Given the description of an element on the screen output the (x, y) to click on. 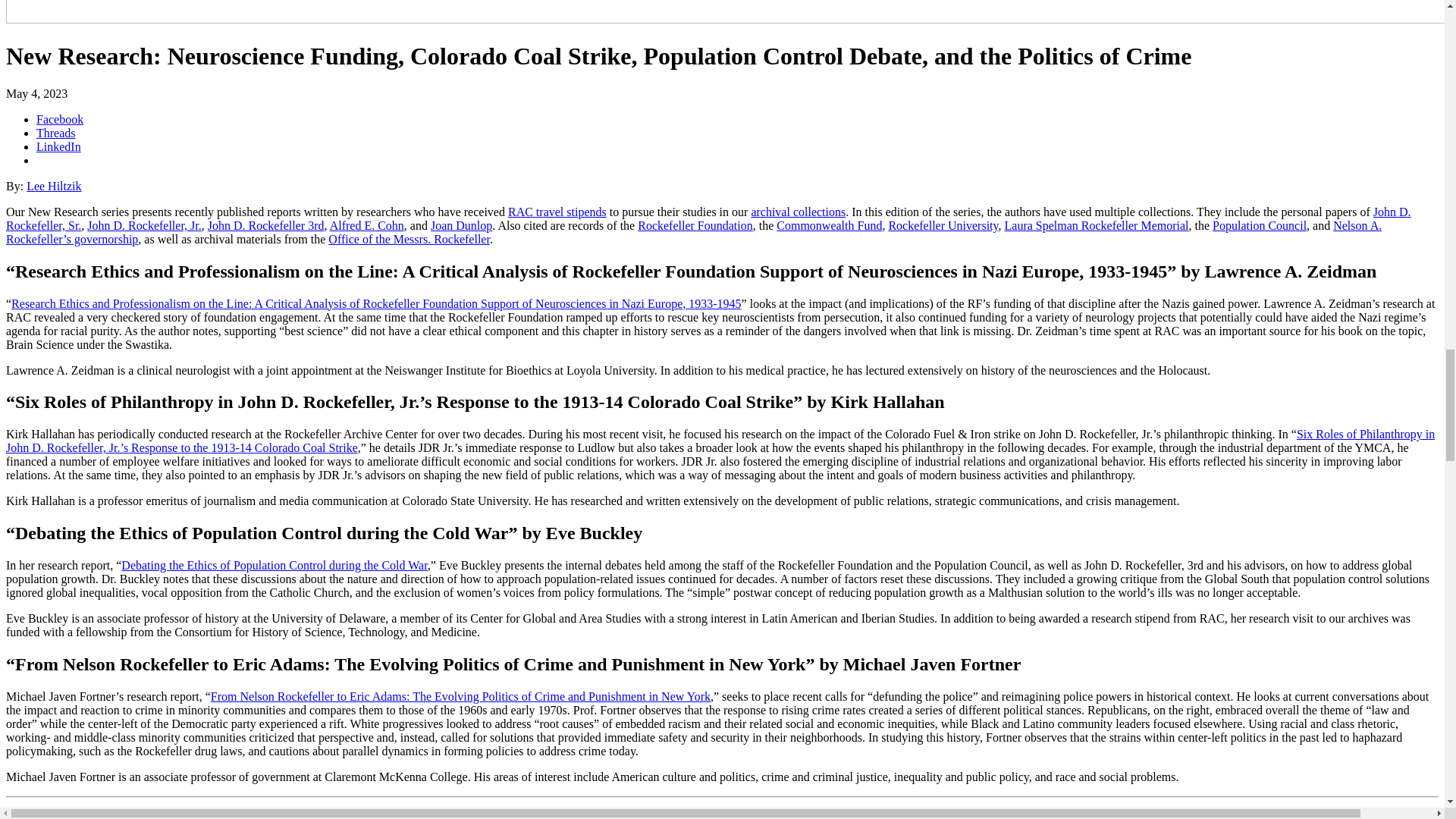
Click to share on LinkedIn (58, 146)
RAC travel stipends (557, 211)
archival collections (798, 211)
Lee Hiltzik (53, 185)
John D. Rockefeller, Sr. (707, 218)
Click to share on Threads (55, 132)
Posts by Lee Hiltzik (53, 185)
LinkedIn (58, 146)
Click to share on Facebook (59, 119)
Threads (55, 132)
